Given the description of an element on the screen output the (x, y) to click on. 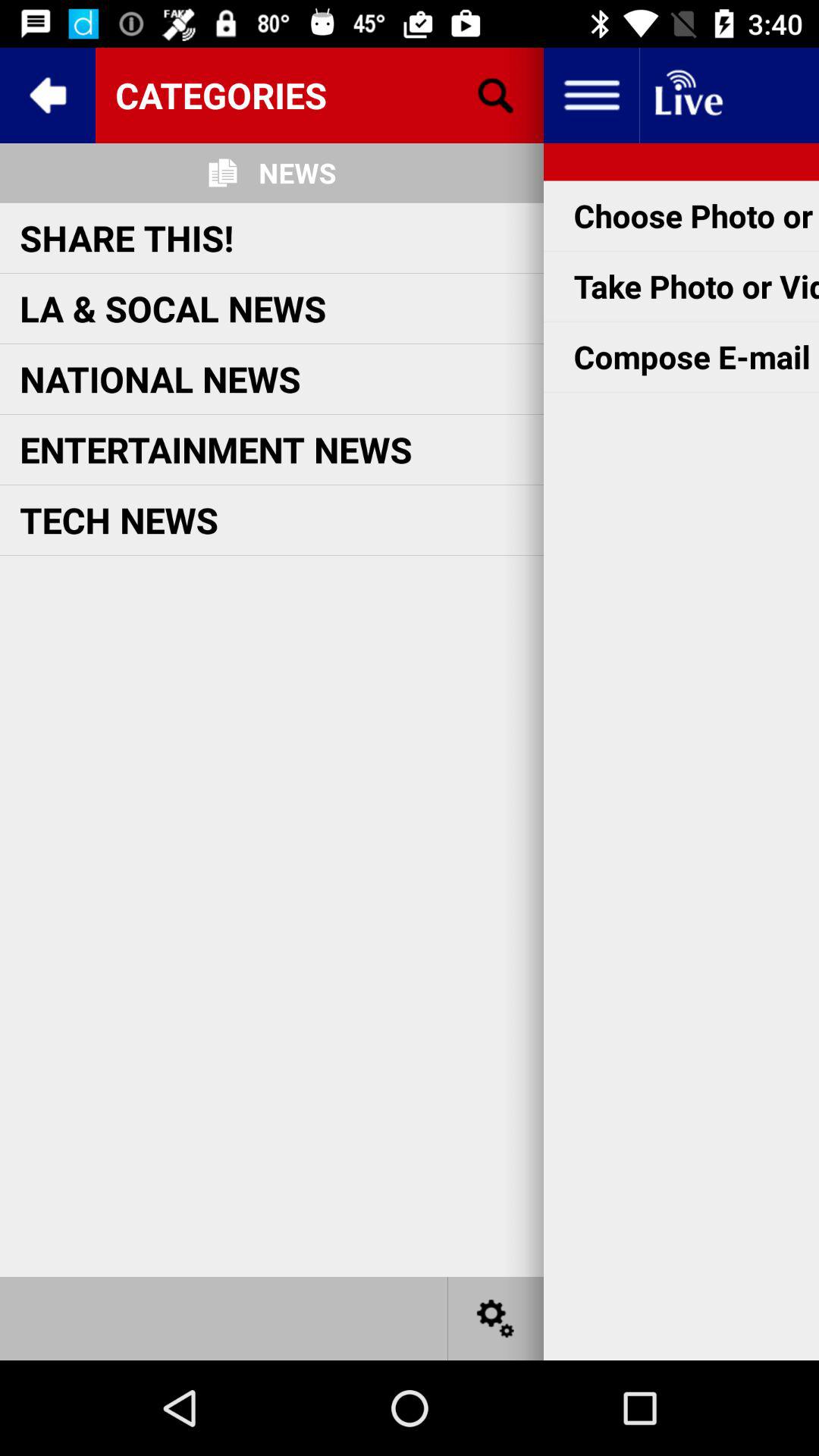
flip to share this! item (126, 237)
